Given the description of an element on the screen output the (x, y) to click on. 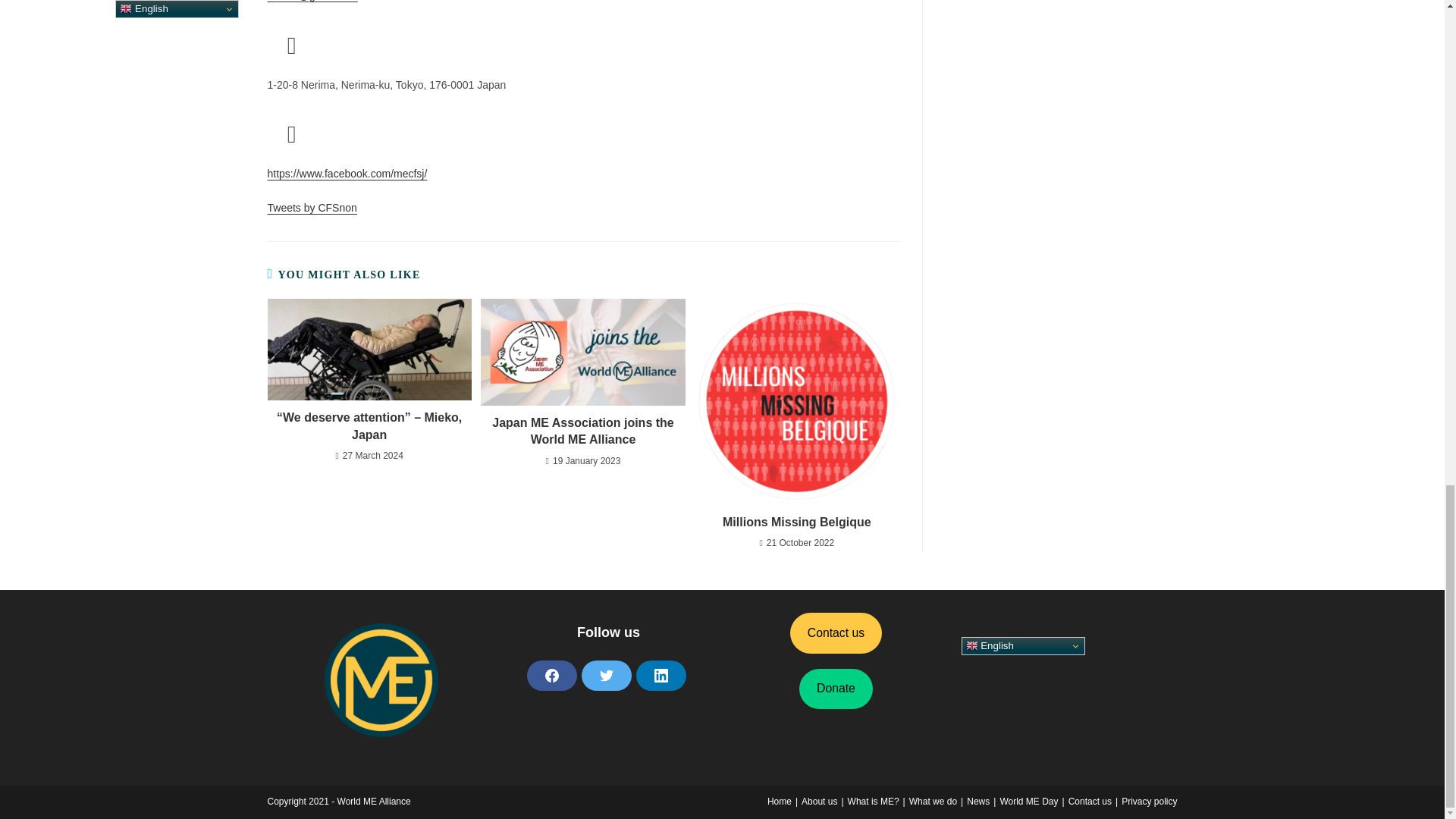
Facebook (550, 675)
Twitter (605, 675)
Linkedin (659, 675)
